Given the description of an element on the screen output the (x, y) to click on. 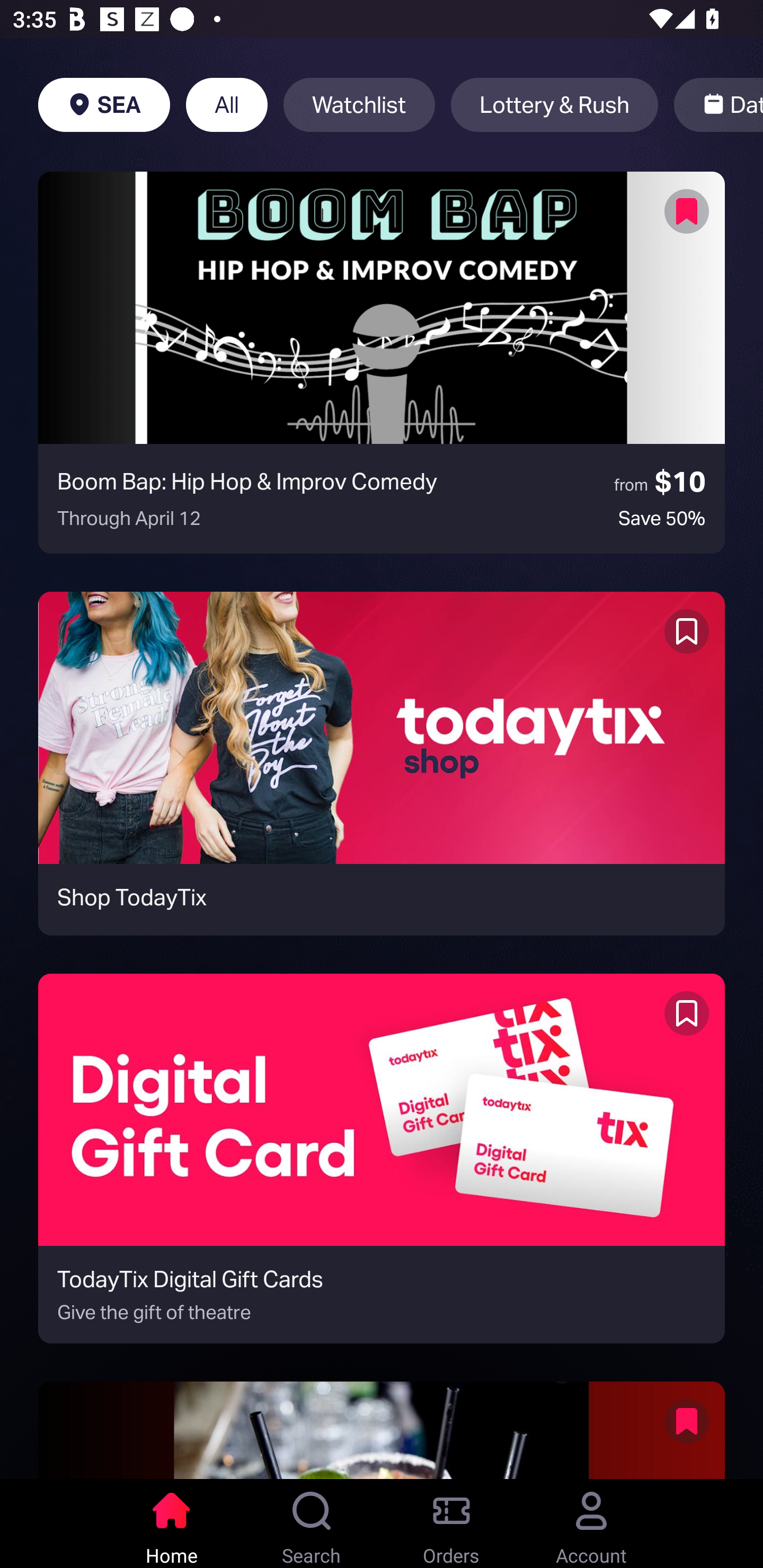
SEA (104, 104)
All (226, 104)
Watchlist (358, 104)
Lottery & Rush (553, 104)
Shop TodayTix (381, 763)
Search (311, 1523)
Orders (451, 1523)
Account (591, 1523)
